Given the description of an element on the screen output the (x, y) to click on. 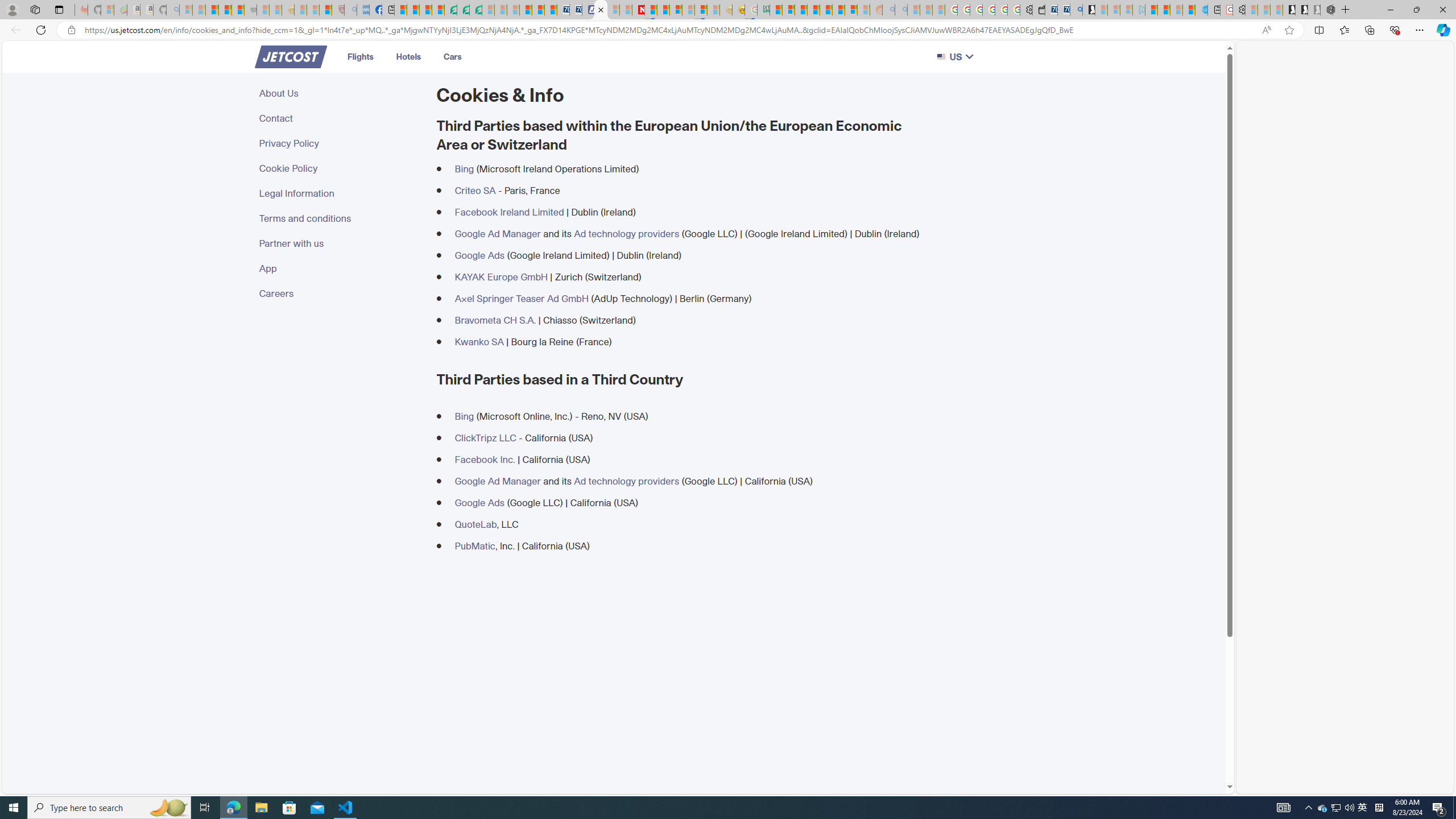
QuoteLab (475, 523)
Careers (341, 292)
Facebook Inc. (484, 458)
Criteo SA (475, 190)
